Given the description of an element on the screen output the (x, y) to click on. 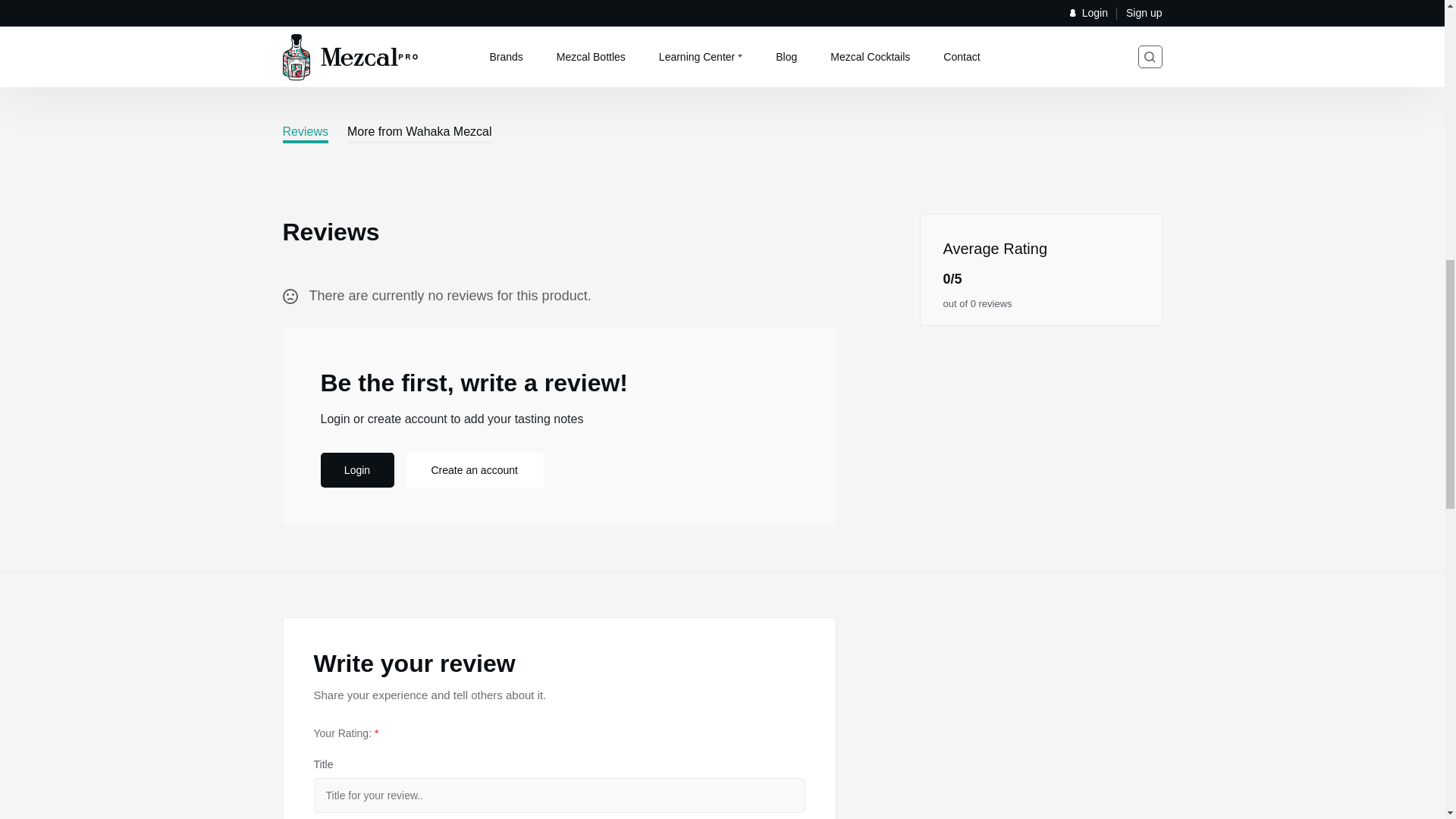
Create an account (473, 469)
More from Wahaka Mezcal (419, 133)
Reviews (304, 133)
Login (356, 469)
